Given the description of an element on the screen output the (x, y) to click on. 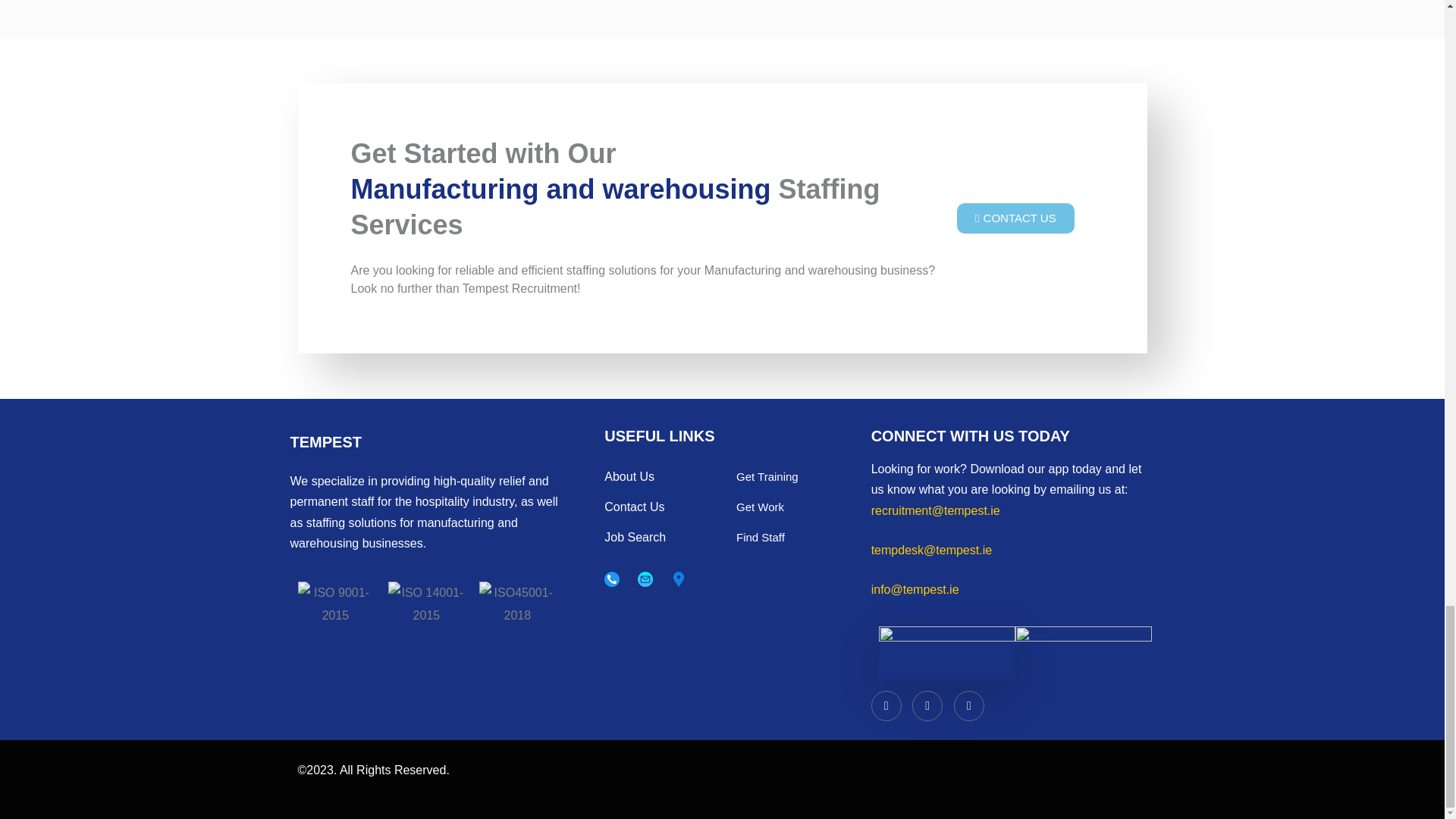
ISO45001-2018 (516, 603)
ISO 9001-2015 (334, 603)
ISO 14001-2015 (426, 603)
